Given the description of an element on the screen output the (x, y) to click on. 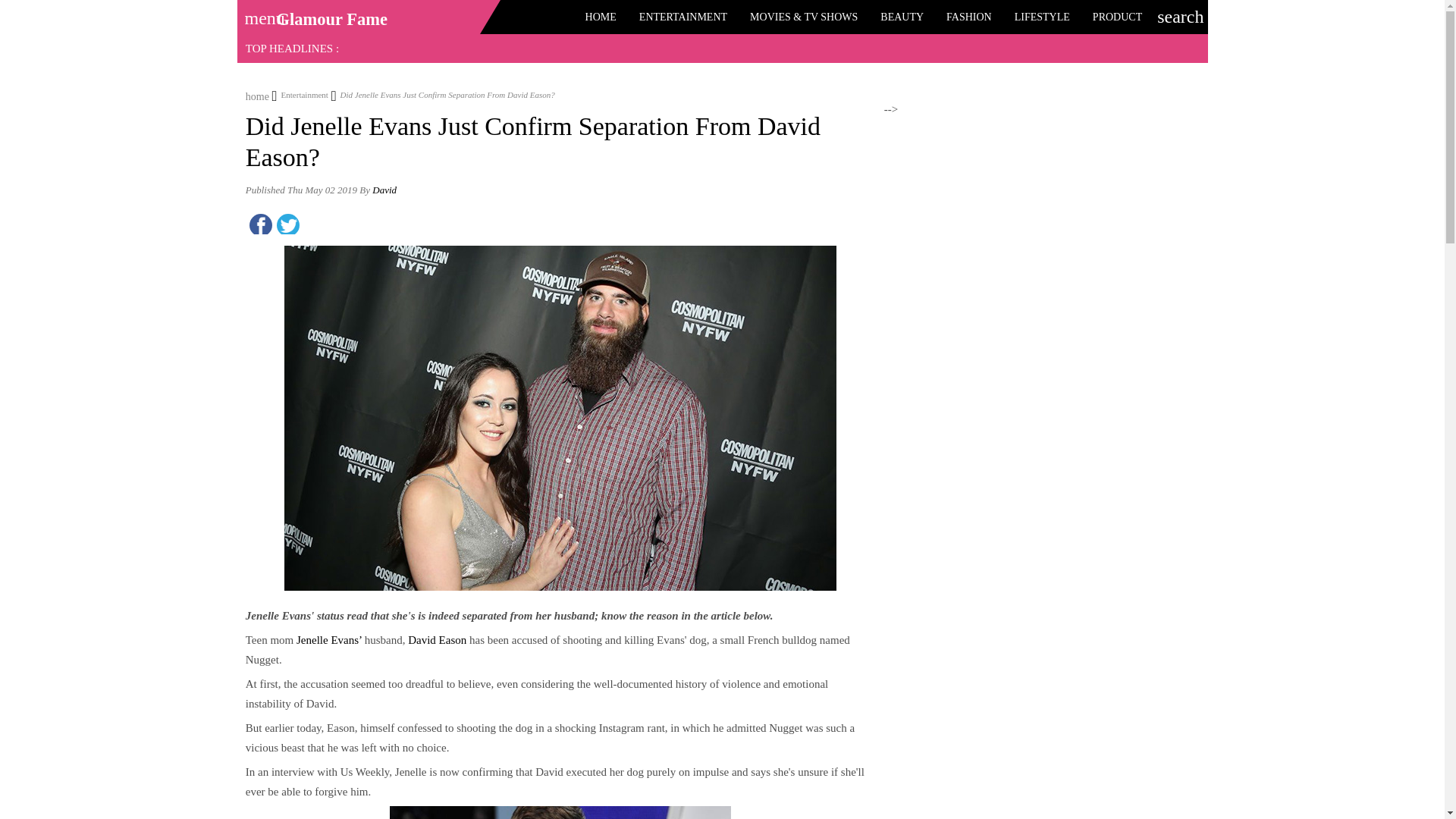
David (384, 189)
David Eason (436, 639)
menu (259, 13)
PRODUCT (1117, 17)
ENTERTAINMENT (682, 17)
HOME (600, 17)
home (257, 94)
Glamour Fame (331, 18)
Entertainment (300, 94)
